Given the description of an element on the screen output the (x, y) to click on. 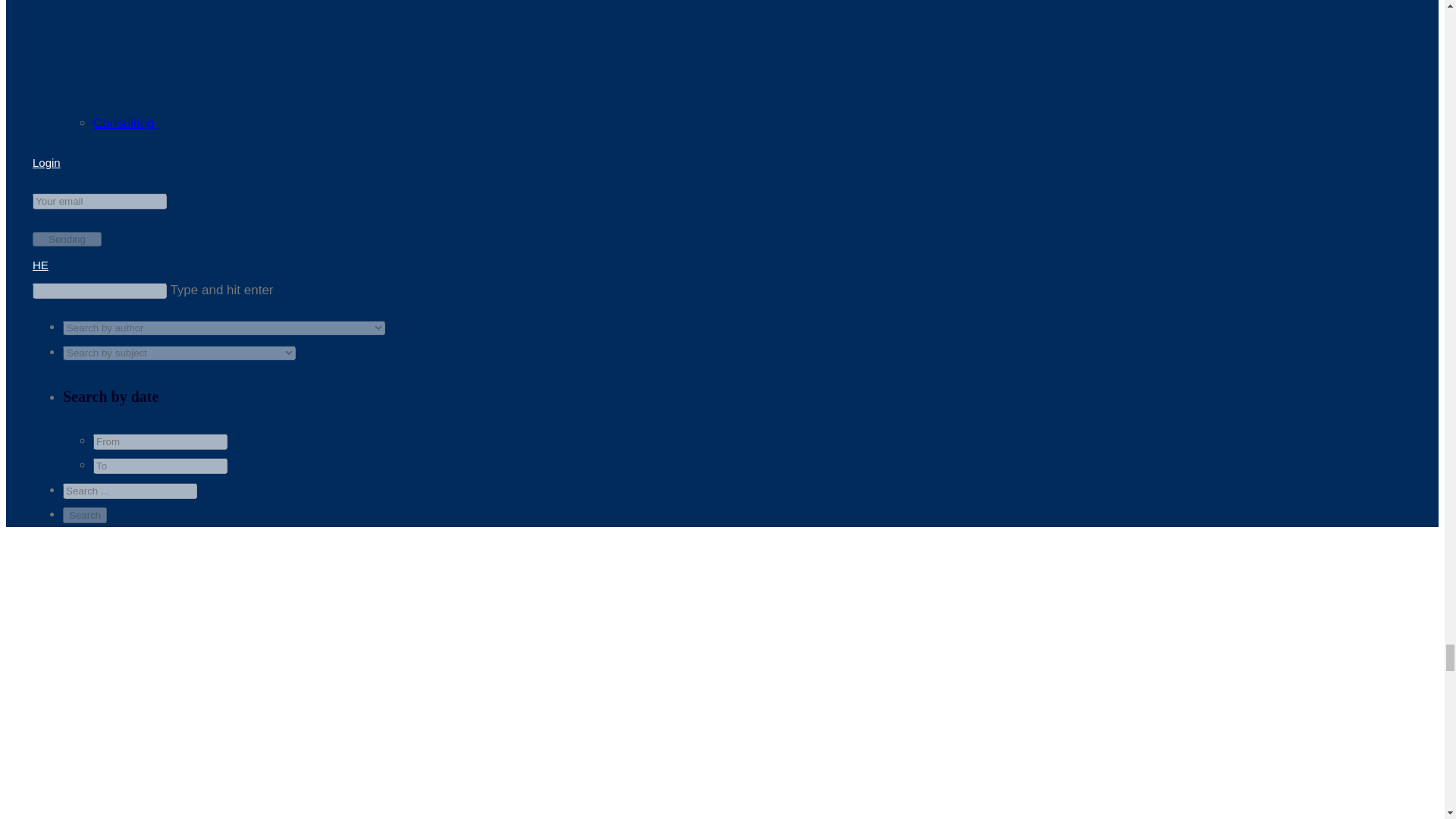
Search (84, 514)
Login (46, 162)
